Given the description of an element on the screen output the (x, y) to click on. 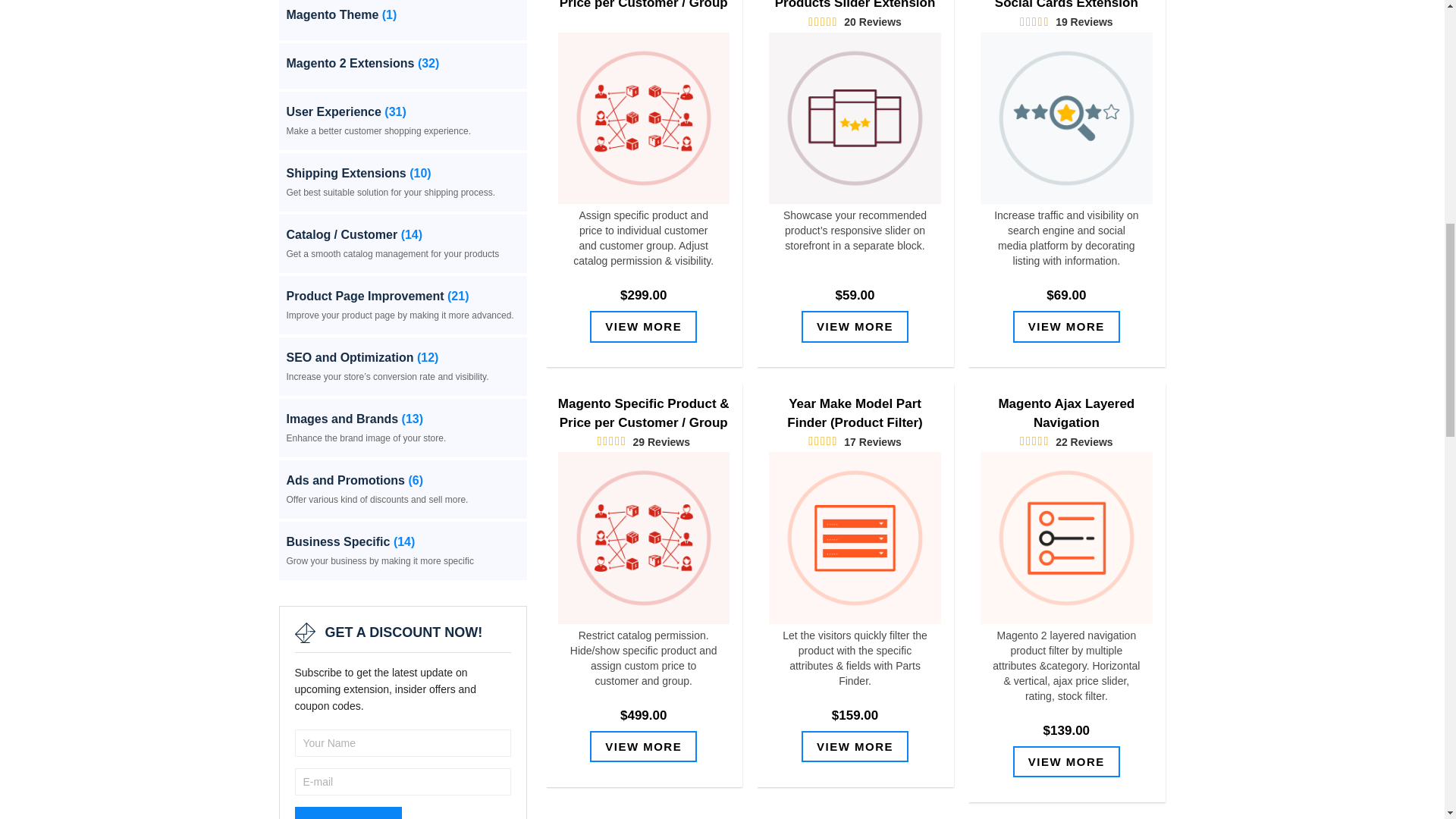
View More (643, 326)
View More (855, 326)
View More (1066, 326)
